Given the description of an element on the screen output the (x, y) to click on. 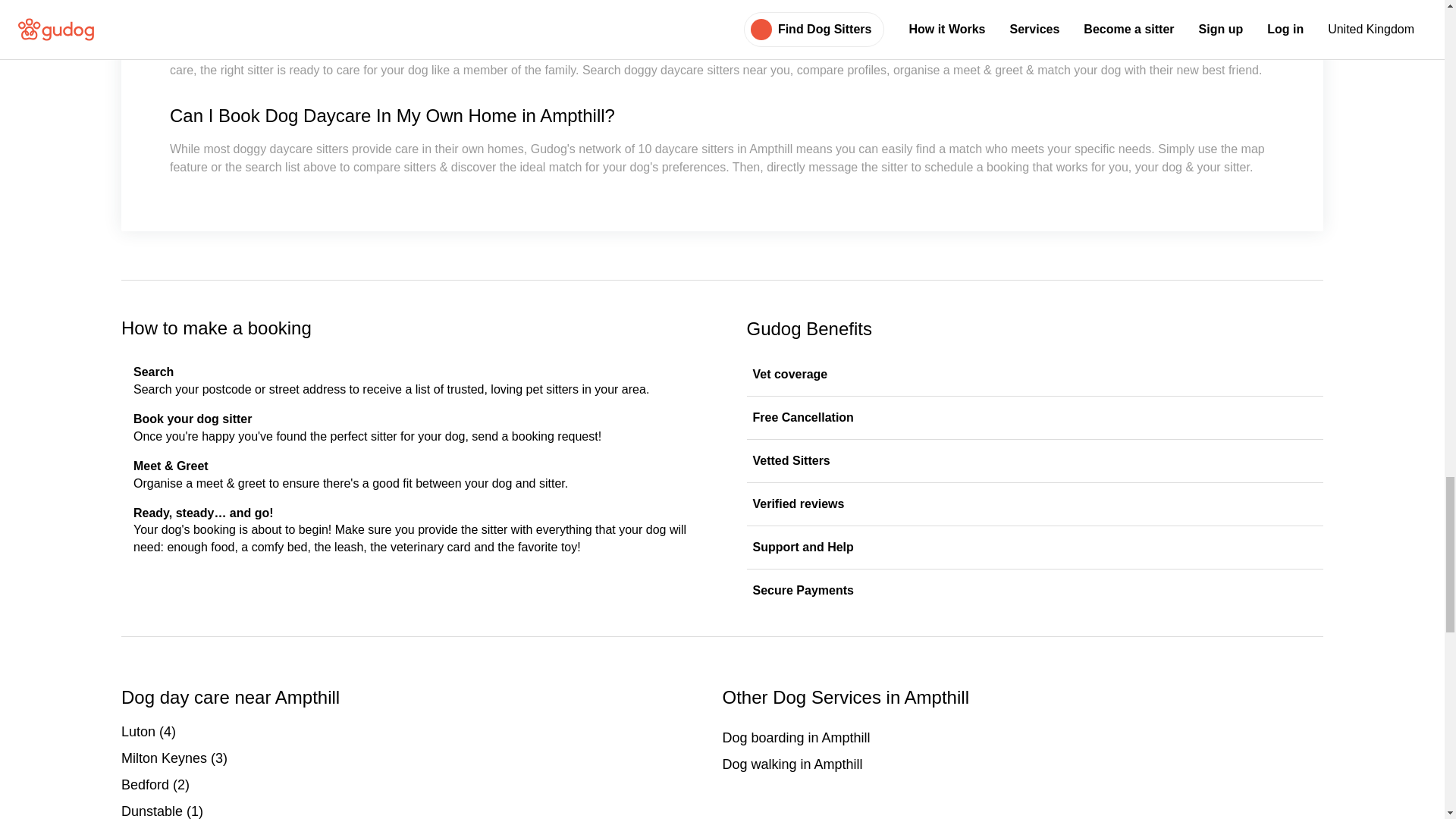
Dog day care in Dunstable (421, 810)
Dog day care in Luton (421, 731)
Dog boarding in Ampthill (1022, 738)
Dog day care in Bedford (421, 784)
Dog day care in Milton Keynes (421, 758)
Dog walking in Ampthill (1022, 764)
